Given the description of an element on the screen output the (x, y) to click on. 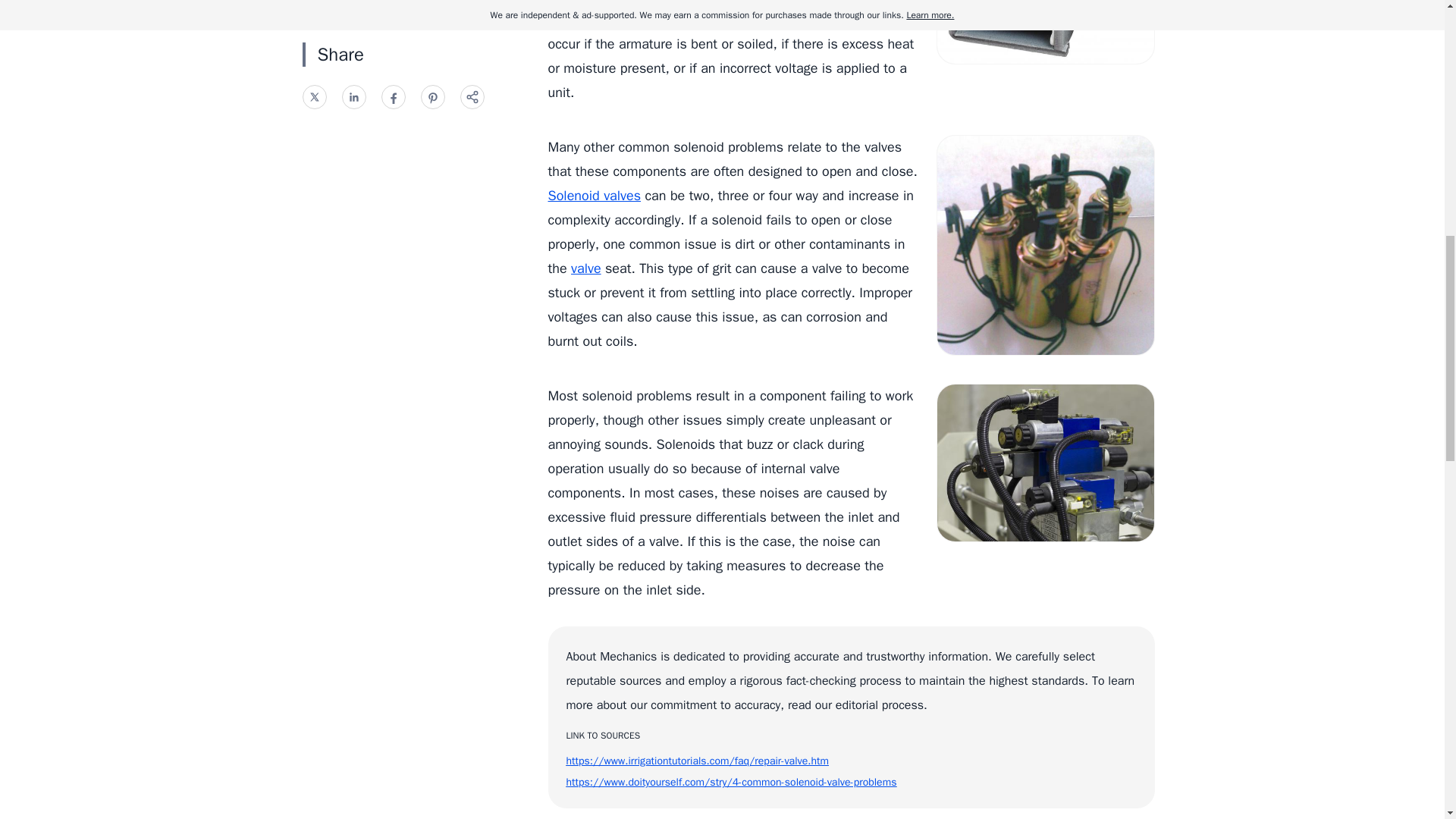
valve (585, 268)
Solenoid valves (593, 195)
